Given the description of an element on the screen output the (x, y) to click on. 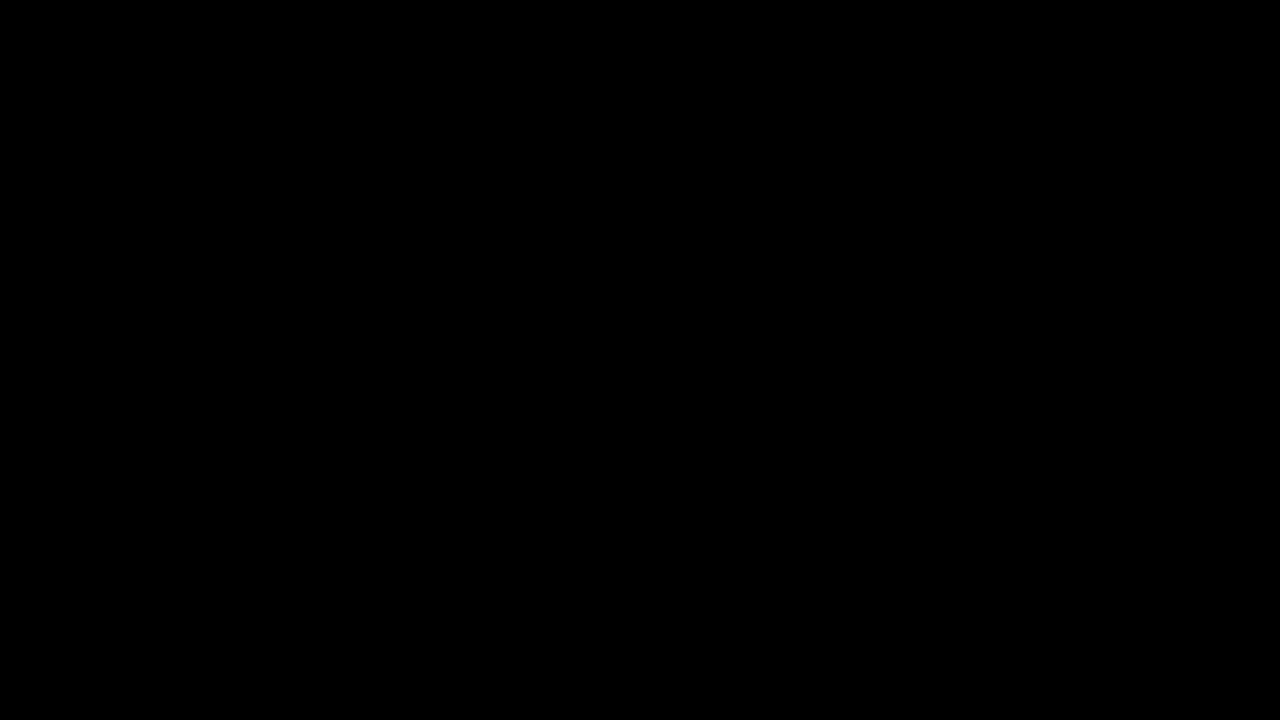
Tools (82, 14)
File Tab (26, 14)
Morphological variation in six dogs (188, 552)
View (136, 14)
